Given the description of an element on the screen output the (x, y) to click on. 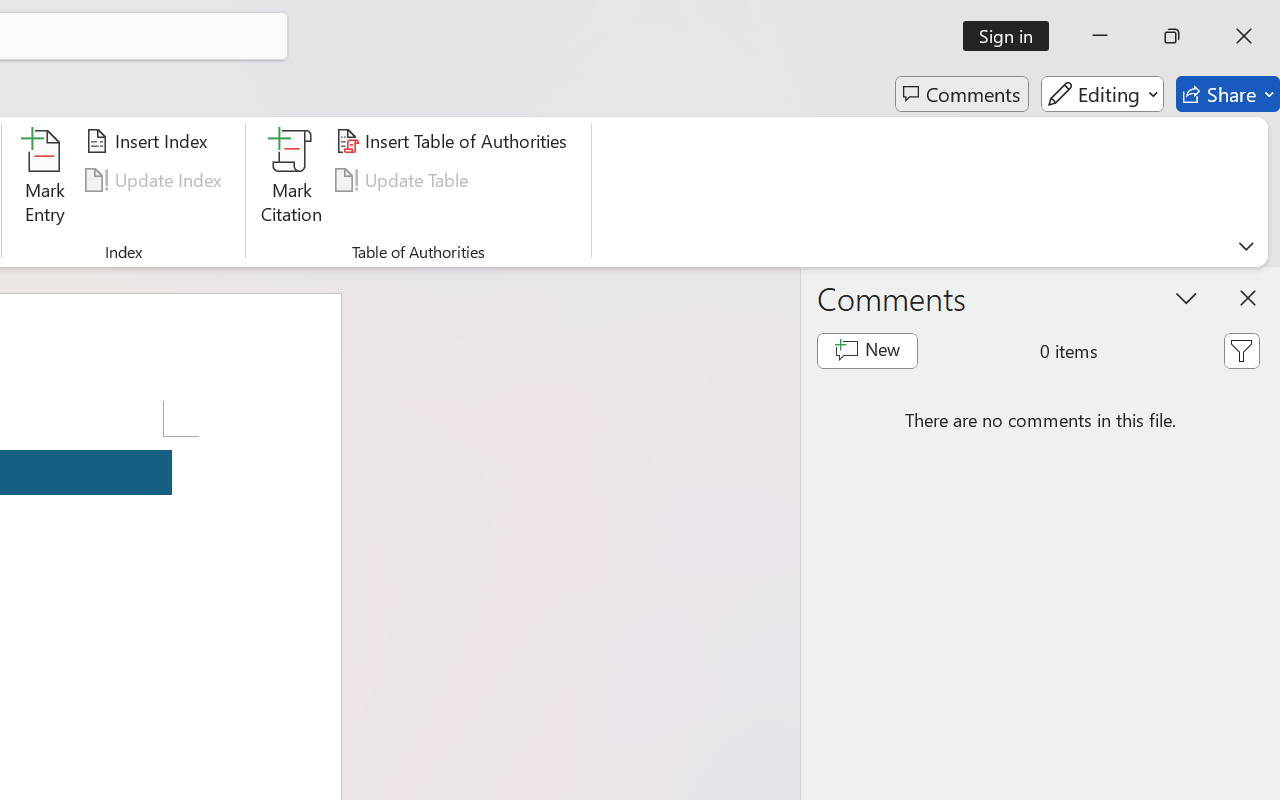
Sign in (1012, 35)
Insert Table of Authorities... (453, 141)
Update Index (156, 179)
Insert Index... (149, 141)
Mark Entry... (44, 179)
Mark Citation... (292, 179)
Filter (1241, 350)
Editing (1101, 94)
New comment (866, 350)
Update Table (404, 179)
